Given the description of an element on the screen output the (x, y) to click on. 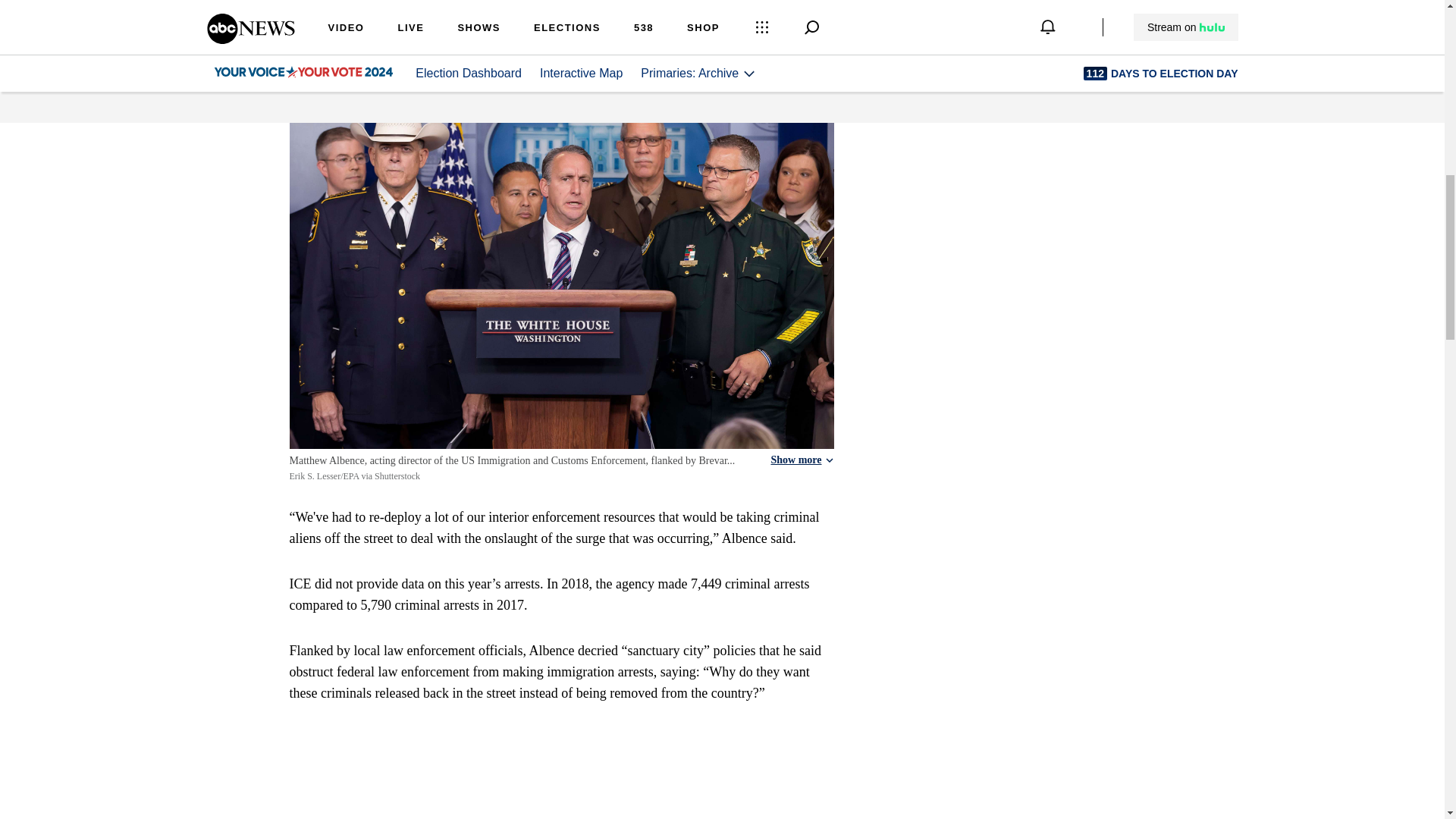
Matthew Albence (476, 50)
Show more (801, 460)
